Given the description of an element on the screen output the (x, y) to click on. 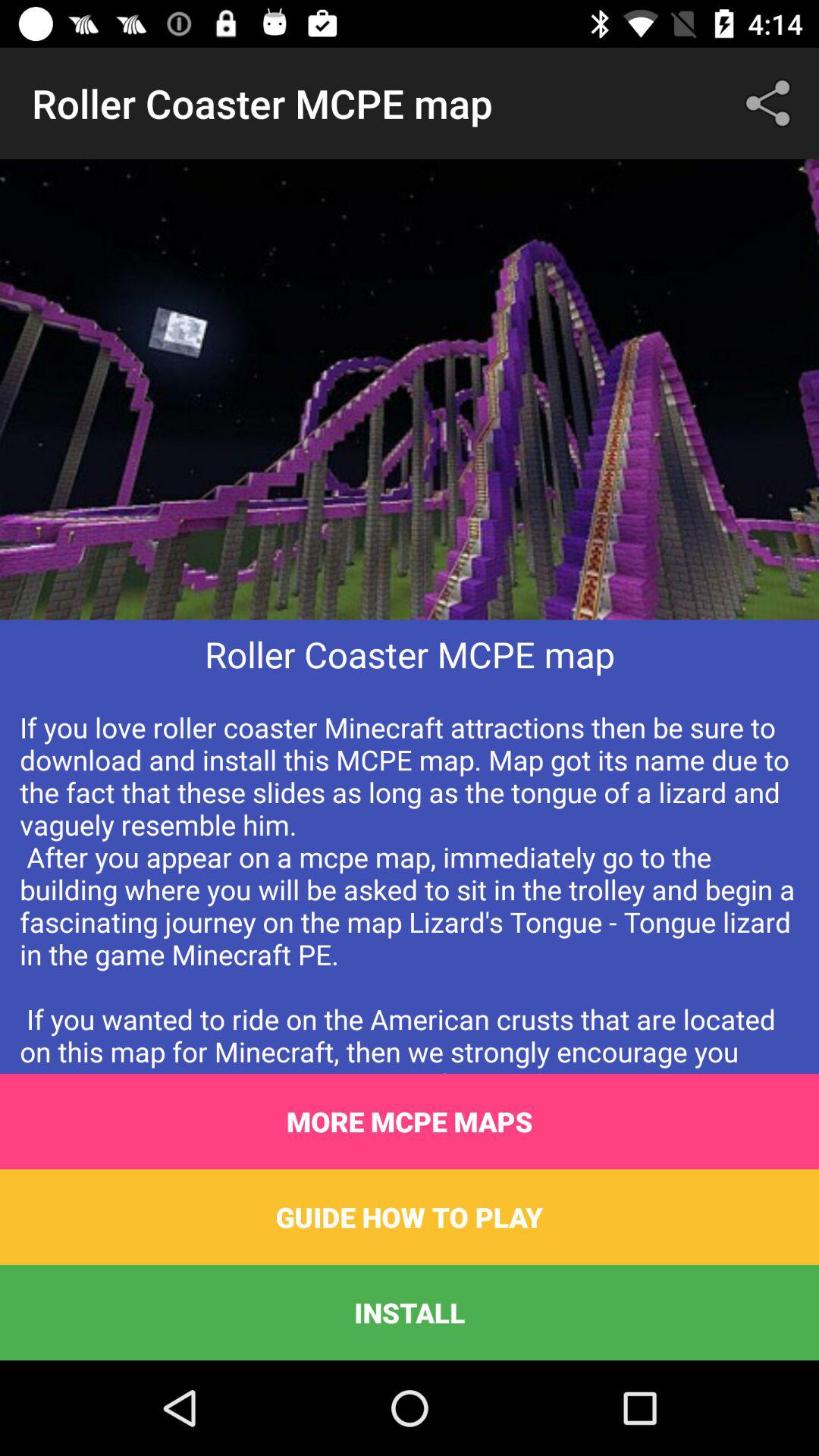
launch icon at the top right corner (771, 103)
